Given the description of an element on the screen output the (x, y) to click on. 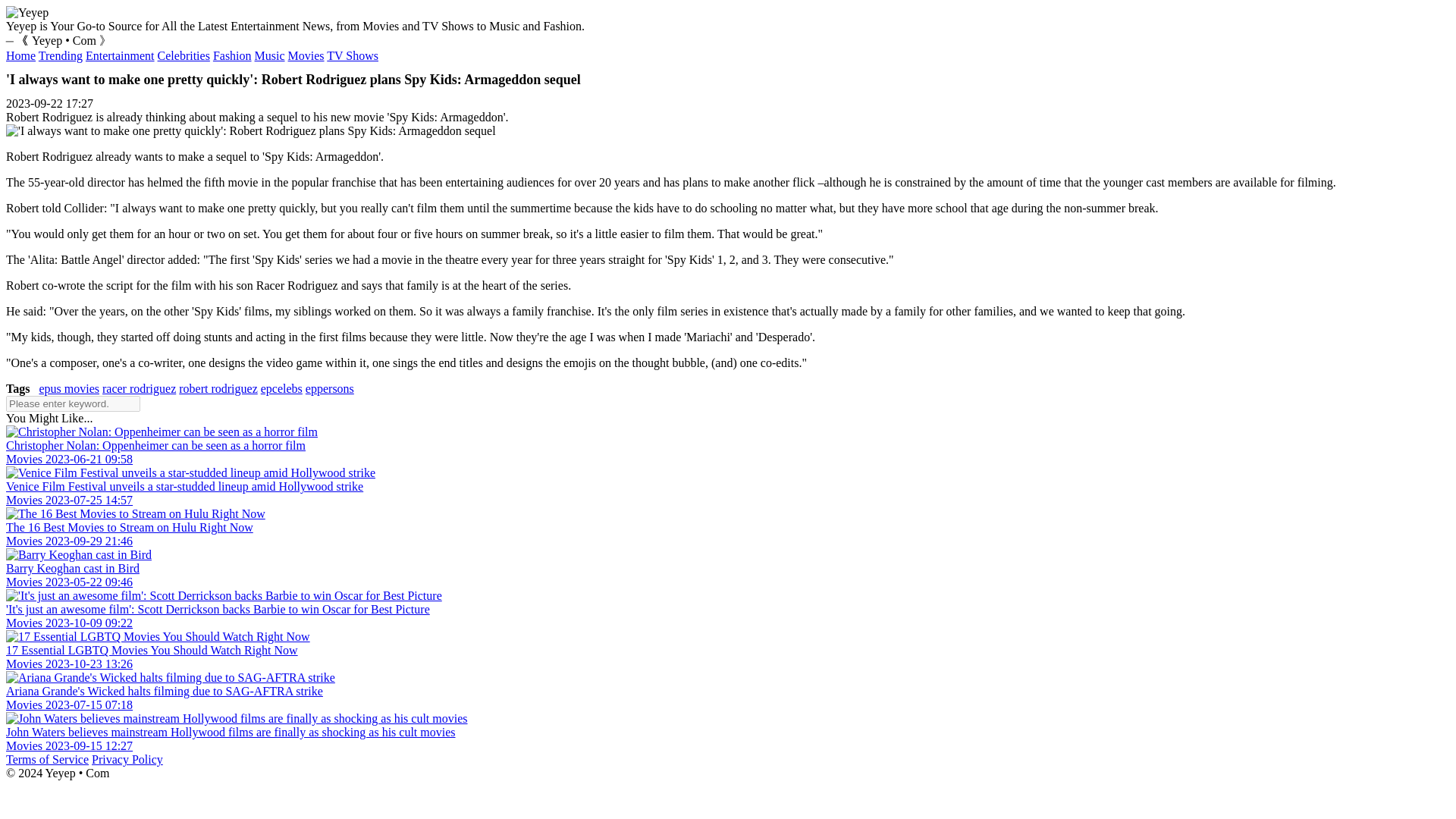
TV Shows (352, 55)
eppersons (329, 388)
robert rodriguez (218, 388)
Home (19, 55)
Fashion (231, 55)
Movies (306, 55)
epcelebs (281, 388)
Terms of Service (46, 758)
racer rodriguez (138, 388)
Music (269, 55)
Privacy Policy (127, 758)
Entertainment (119, 55)
Celebrities (183, 55)
epus movies (69, 388)
Trending (60, 55)
